Given the description of an element on the screen output the (x, y) to click on. 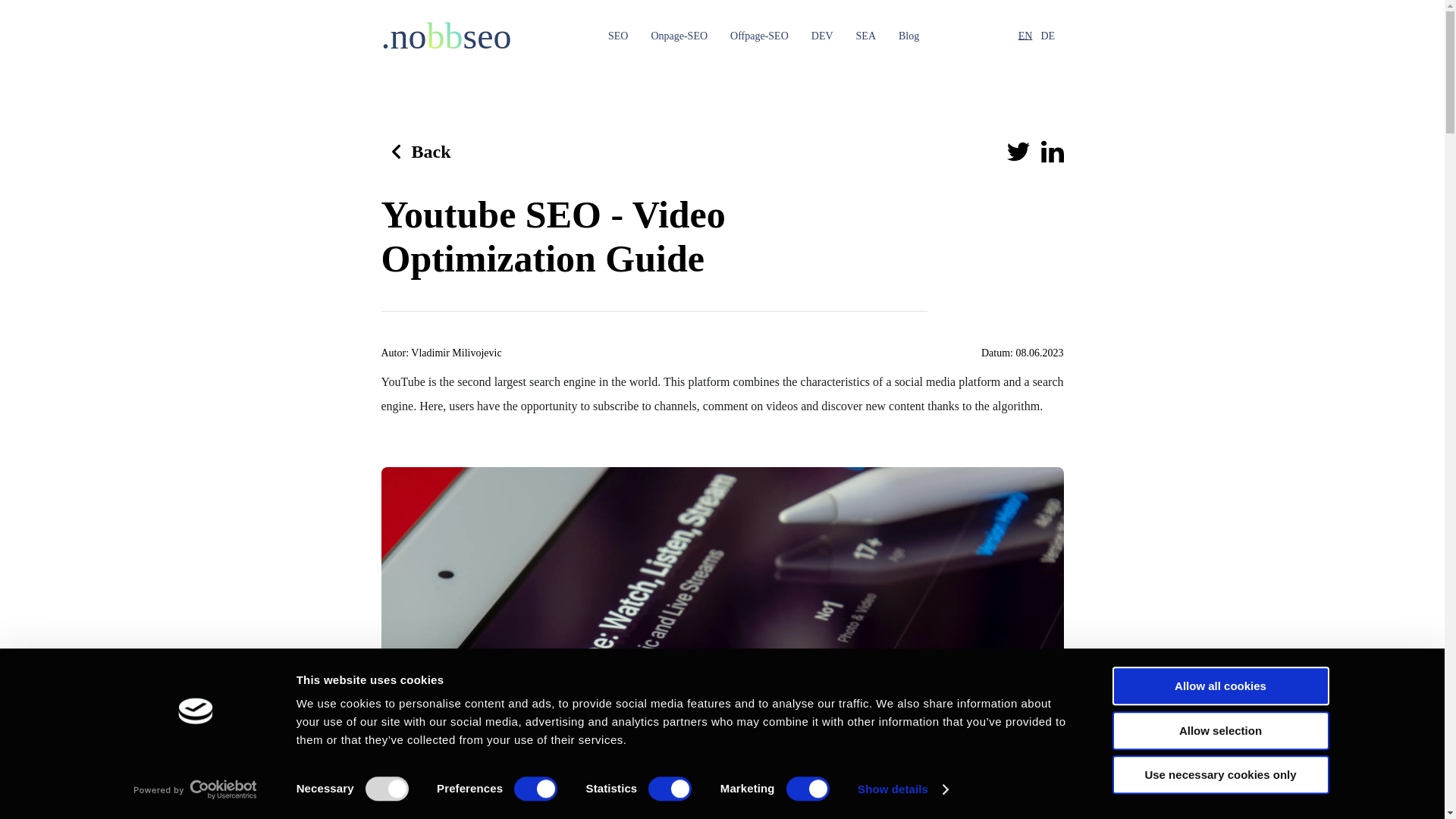
Twitter (1018, 151)
SEO (617, 37)
Show details (902, 789)
Onpage-SEO (678, 37)
.nobbseo (445, 36)
Twitter (45, 692)
Use necessary cookies only (1219, 774)
LinkedIn (45, 728)
Offpage-SEO (759, 37)
Allow selection (1219, 730)
